Given the description of an element on the screen output the (x, y) to click on. 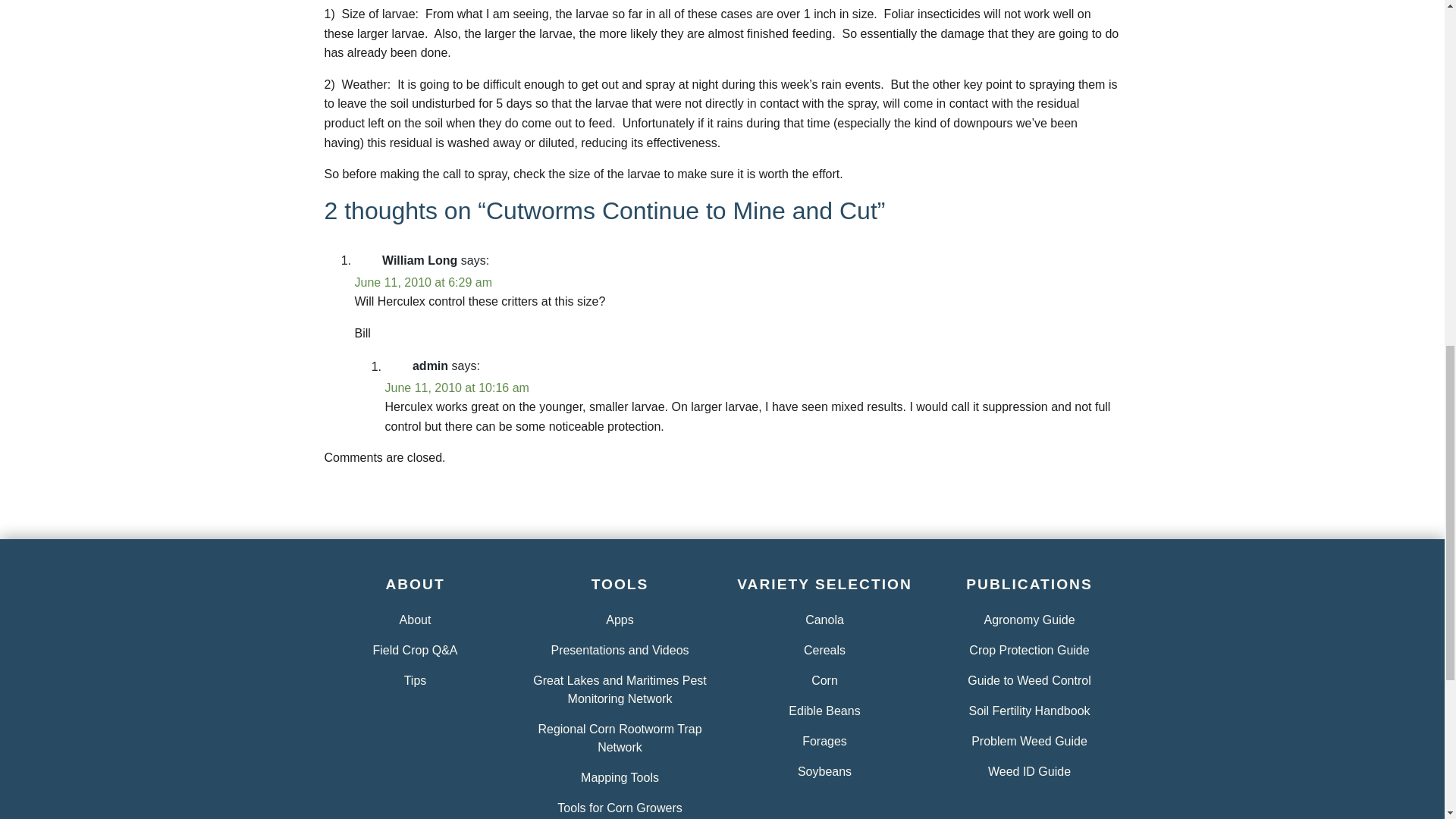
June 11, 2010 at 10:16 am (457, 387)
June 11, 2010 at 6:29 am (423, 282)
About (414, 619)
